Given the description of an element on the screen output the (x, y) to click on. 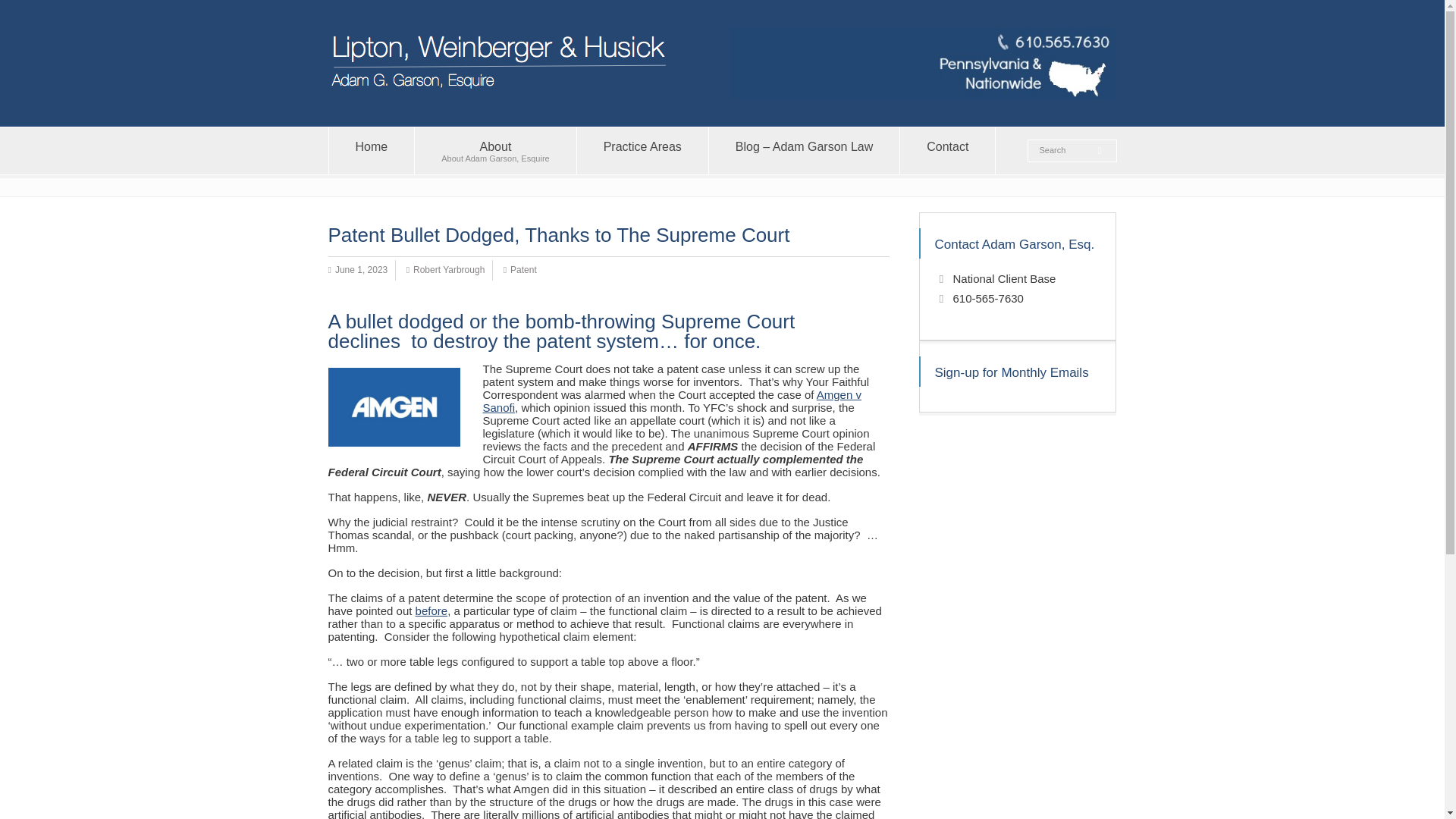
Amgen v Sanofi (670, 401)
Search (946, 150)
before (1063, 151)
Search (431, 609)
Areas we can help you (1063, 151)
Patent (371, 150)
No Obligation Consultations (641, 150)
